Given the description of an element on the screen output the (x, y) to click on. 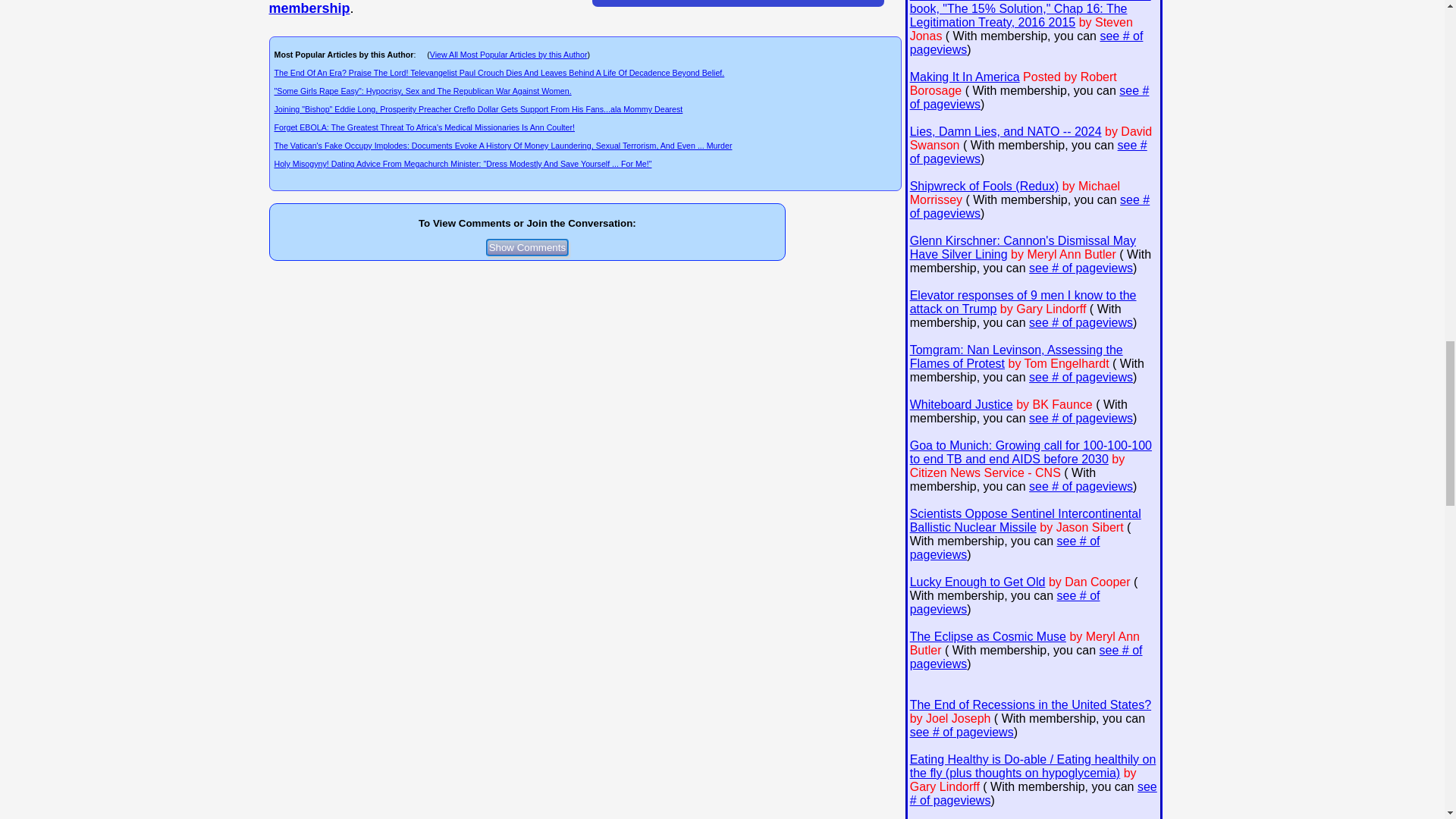
-- (408, 7)
Show Comments (527, 247)
